Given the description of an element on the screen output the (x, y) to click on. 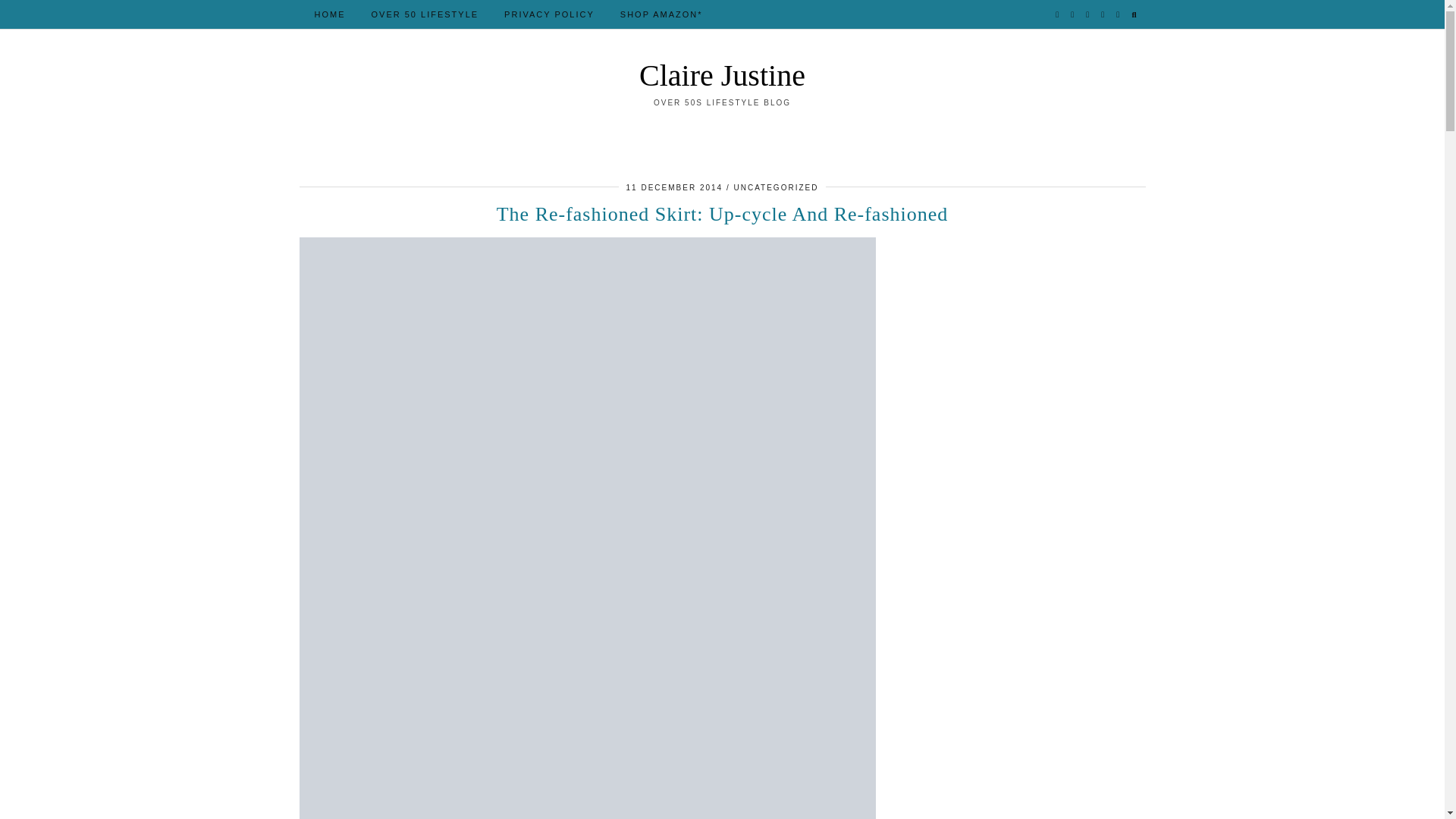
Claire Justine (722, 75)
HOME (329, 14)
Claire Justine (722, 75)
UNCATEGORIZED (775, 187)
PRIVACY POLICY (549, 14)
OVER 50 LIFESTYLE (425, 14)
